Given the description of an element on the screen output the (x, y) to click on. 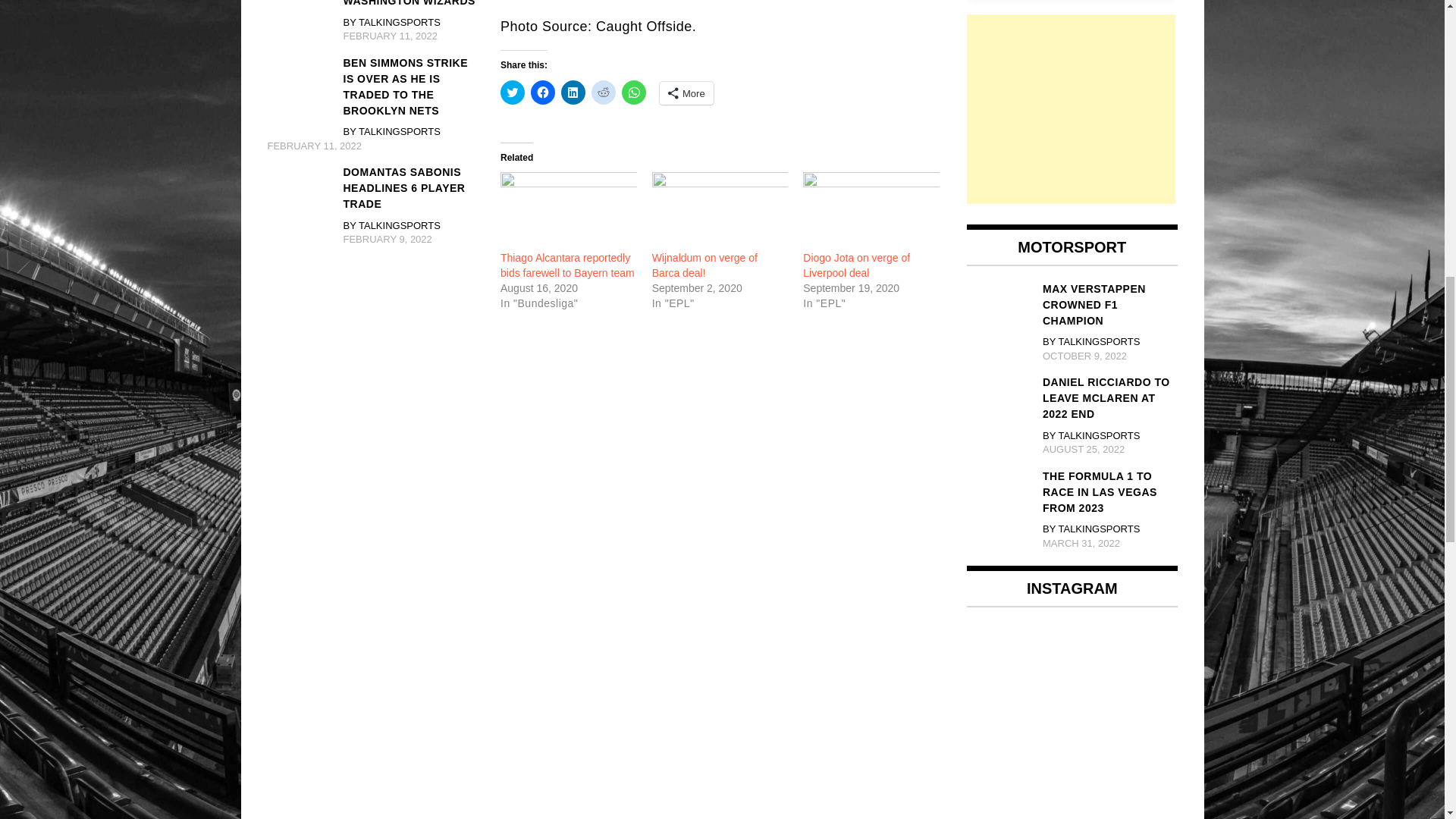
Click to share on LinkedIn (572, 92)
Thiago Alcantara reportedly bids farewell to Bayern team (568, 210)
Click to share on WhatsApp (633, 92)
Click to share on Twitter (512, 92)
Wijnaldum on verge of Barca deal! (720, 210)
Click to share on Facebook (542, 92)
Thiago Alcantara reportedly bids farewell to Bayern team (567, 265)
Click to share on Reddit (603, 92)
